Given the description of an element on the screen output the (x, y) to click on. 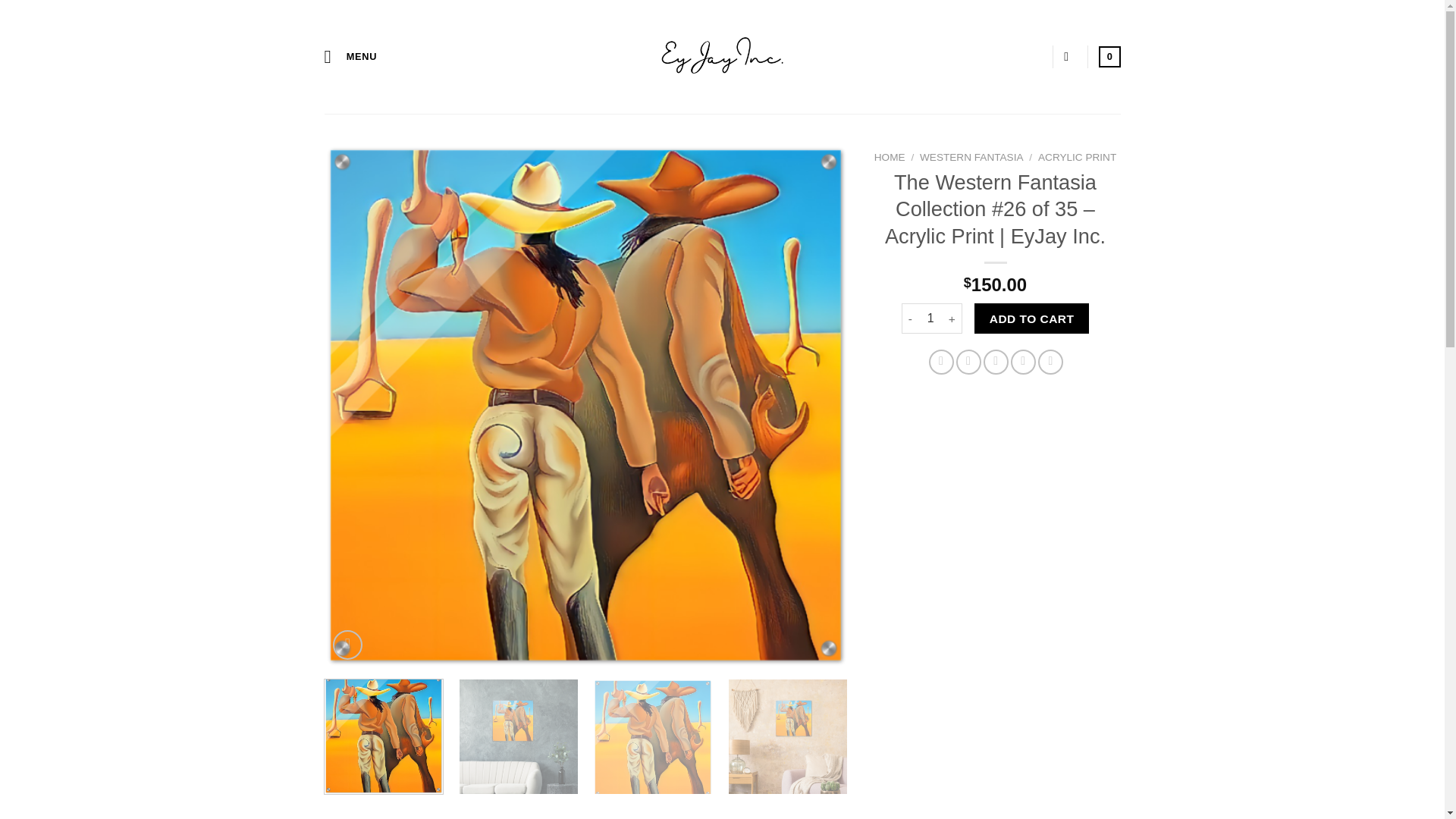
MENU (350, 56)
HOME (890, 156)
ACRYLIC PRINT (1077, 156)
Zoom (347, 644)
WESTERN FANTASIA (971, 156)
Share on Twitter (968, 361)
Share on Tumblr (1050, 361)
Email to a Friend (996, 361)
Share on Facebook (940, 361)
Pin on Pinterest (1022, 361)
EyJay Inc. - Modern Contemporary Abstract Art by Eyjay (721, 56)
ADD TO CART (1031, 318)
